Given the description of an element on the screen output the (x, y) to click on. 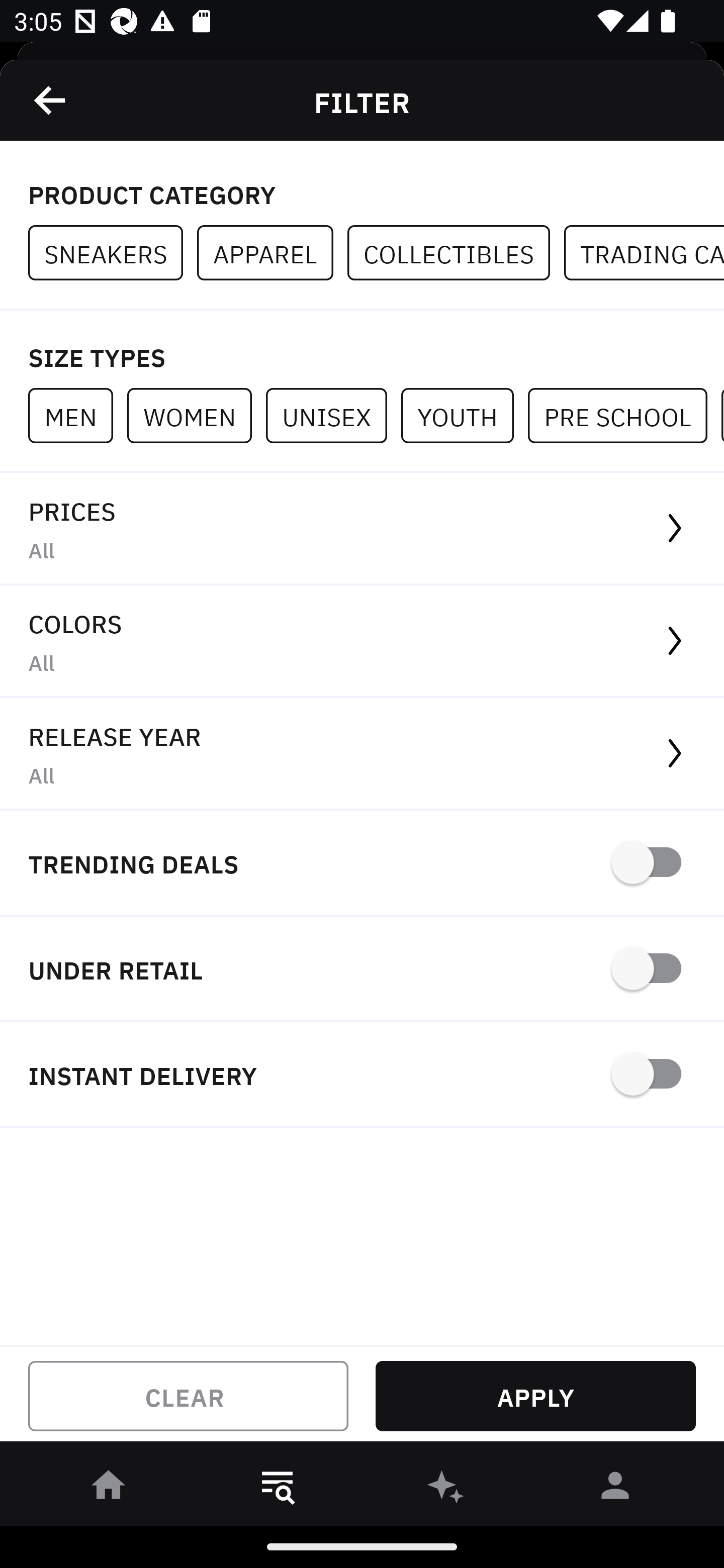
 (50, 100)
SNEAKERS (112, 252)
APPAREL (271, 252)
COLLECTIBLES (455, 252)
TRADING CARDS (643, 252)
MEN (77, 415)
WOMEN (196, 415)
UNISEX (333, 415)
YOUTH (464, 415)
PRE SCHOOL (624, 415)
PRICES All (362, 528)
COLORS All (362, 640)
RELEASE YEAR All (362, 753)
TRENDING DEALS (362, 863)
UNDER RETAIL (362, 969)
INSTANT DELIVERY (362, 1075)
CLEAR  (188, 1396)
APPLY (535, 1396)
󰋜 (108, 1488)
󱎸 (277, 1488)
󰫢 (446, 1488)
󰀄 (615, 1488)
